Given the description of an element on the screen output the (x, y) to click on. 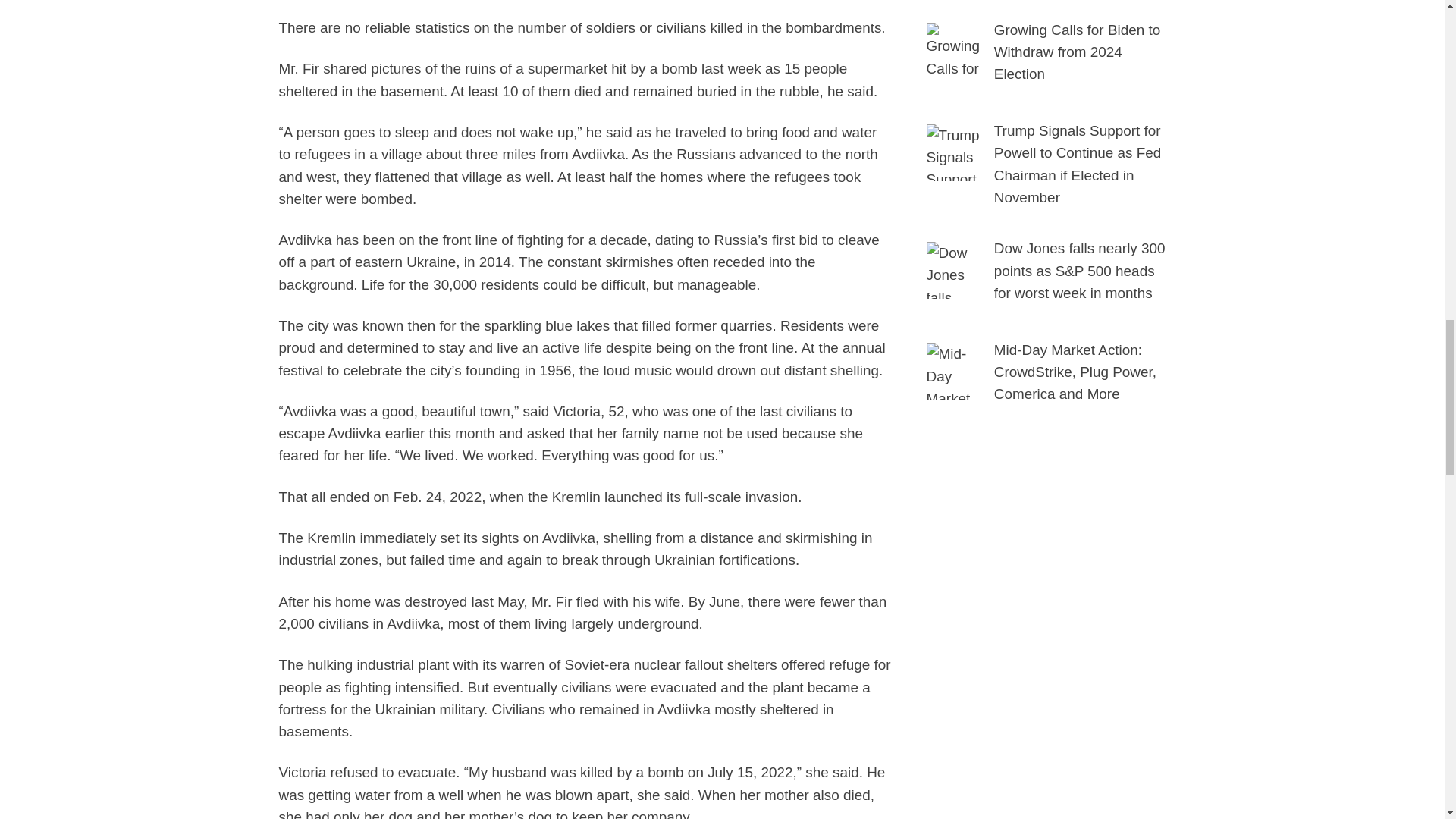
Growing Calls for Biden to Withdraw from 2024 Election (955, 50)
Growing Calls for Biden to Withdraw from 2024 Election (1077, 52)
